Given the description of an element on the screen output the (x, y) to click on. 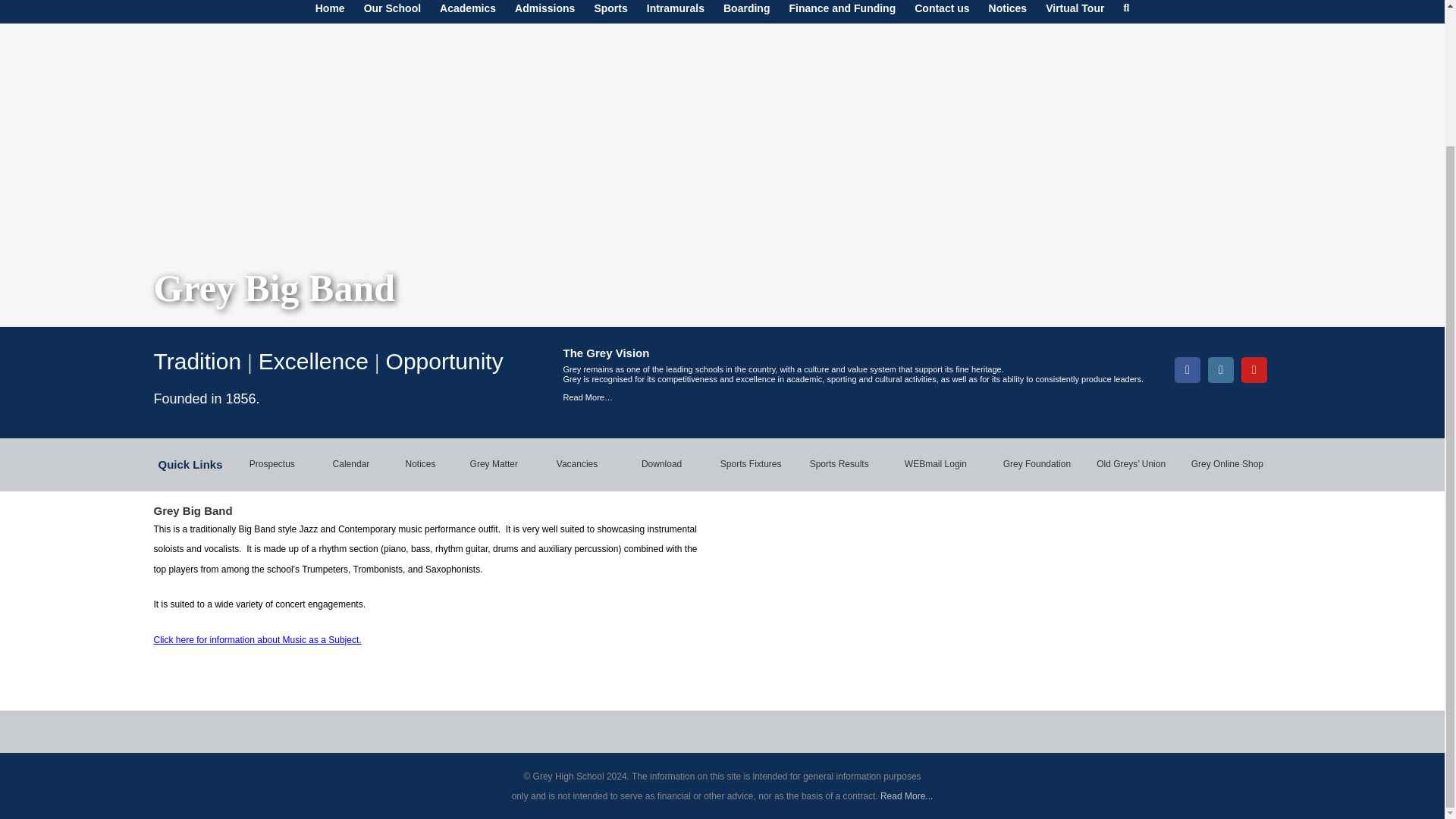
Instagram (1220, 370)
band5 (858, 589)
Our School (392, 11)
Academics (467, 11)
YouTube (1253, 370)
Search (1125, 11)
Facebook (1186, 370)
Home (330, 11)
